Given the description of an element on the screen output the (x, y) to click on. 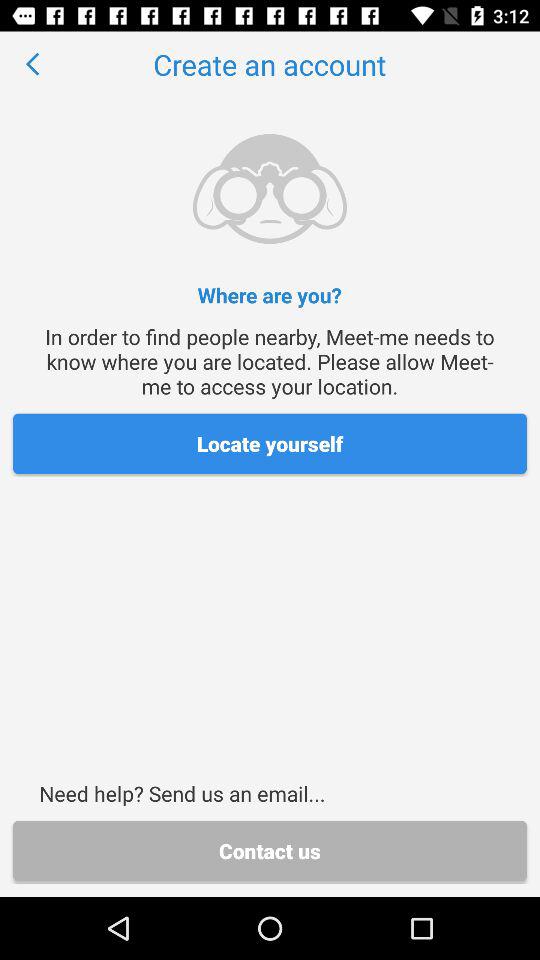
flip until contact us (269, 850)
